Given the description of an element on the screen output the (x, y) to click on. 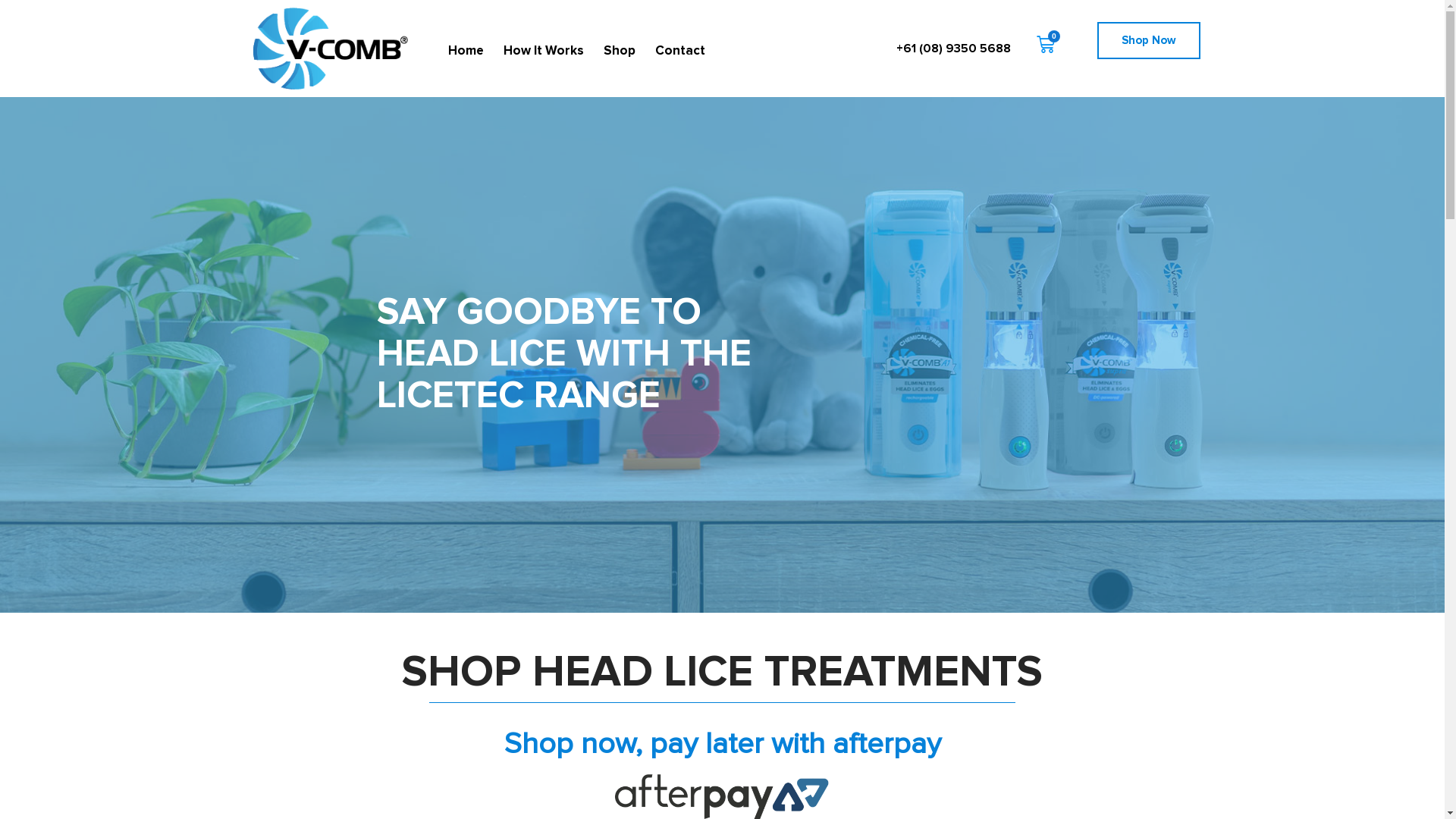
Shop Element type: text (619, 51)
Contact Element type: text (680, 51)
0 Element type: text (1045, 44)
Home Element type: text (465, 51)
How It Works Element type: text (543, 51)
+61 (08) 9350 5688 Element type: text (953, 48)
Shop Now Element type: text (1148, 40)
